Given the description of an element on the screen output the (x, y) to click on. 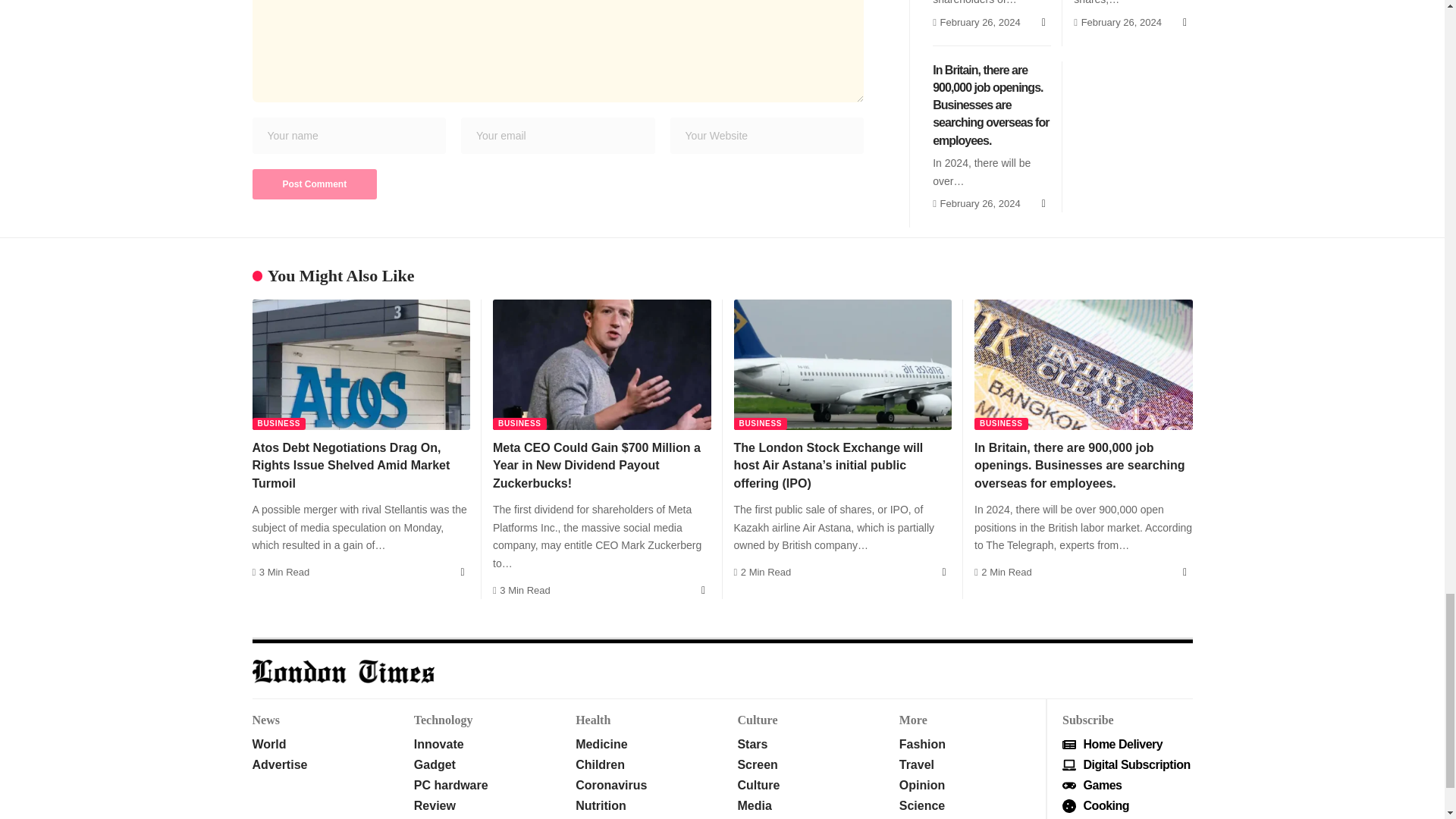
Post Comment (314, 183)
